Given the description of an element on the screen output the (x, y) to click on. 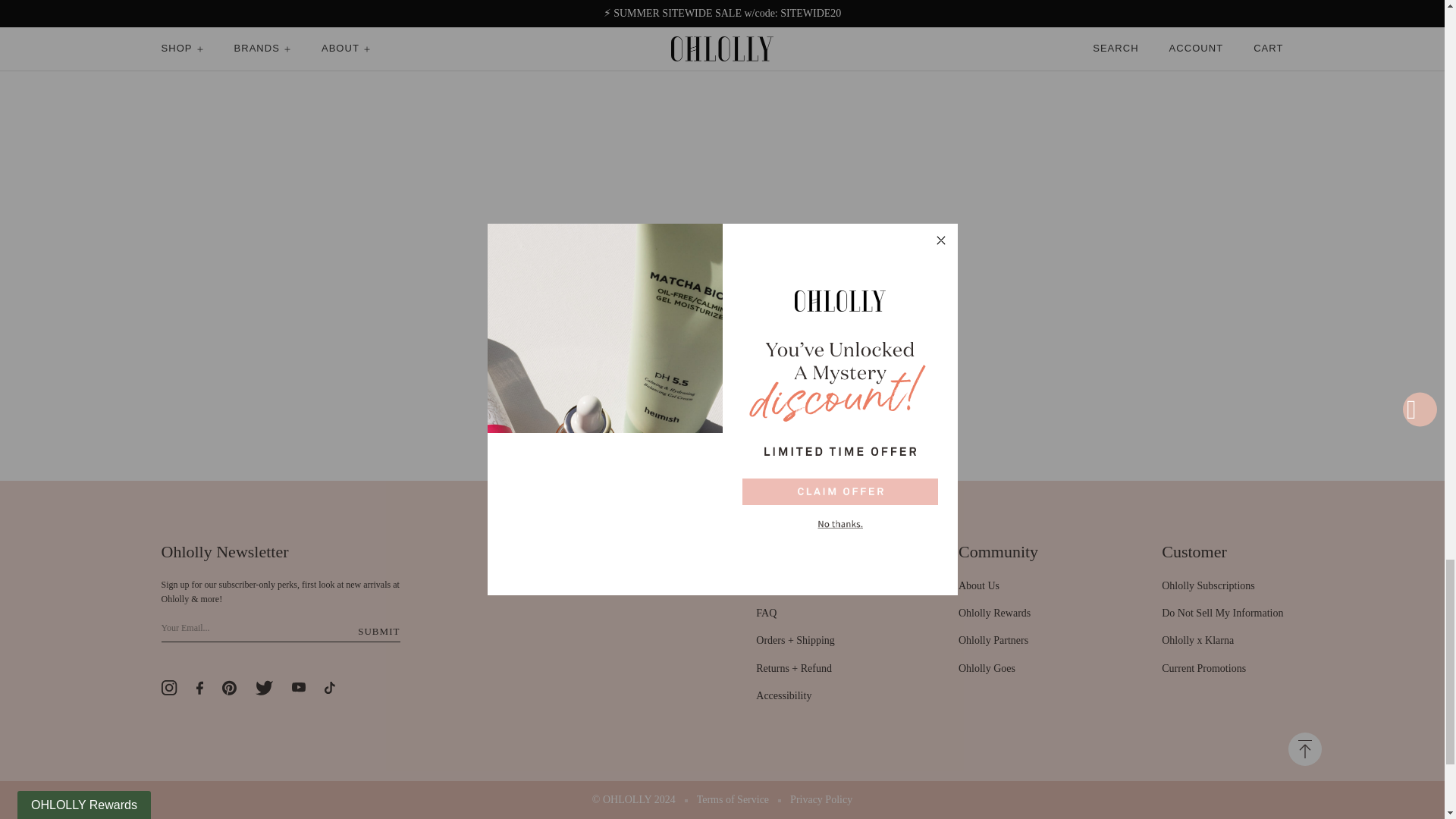
Register (378, 631)
